Given the description of an element on the screen output the (x, y) to click on. 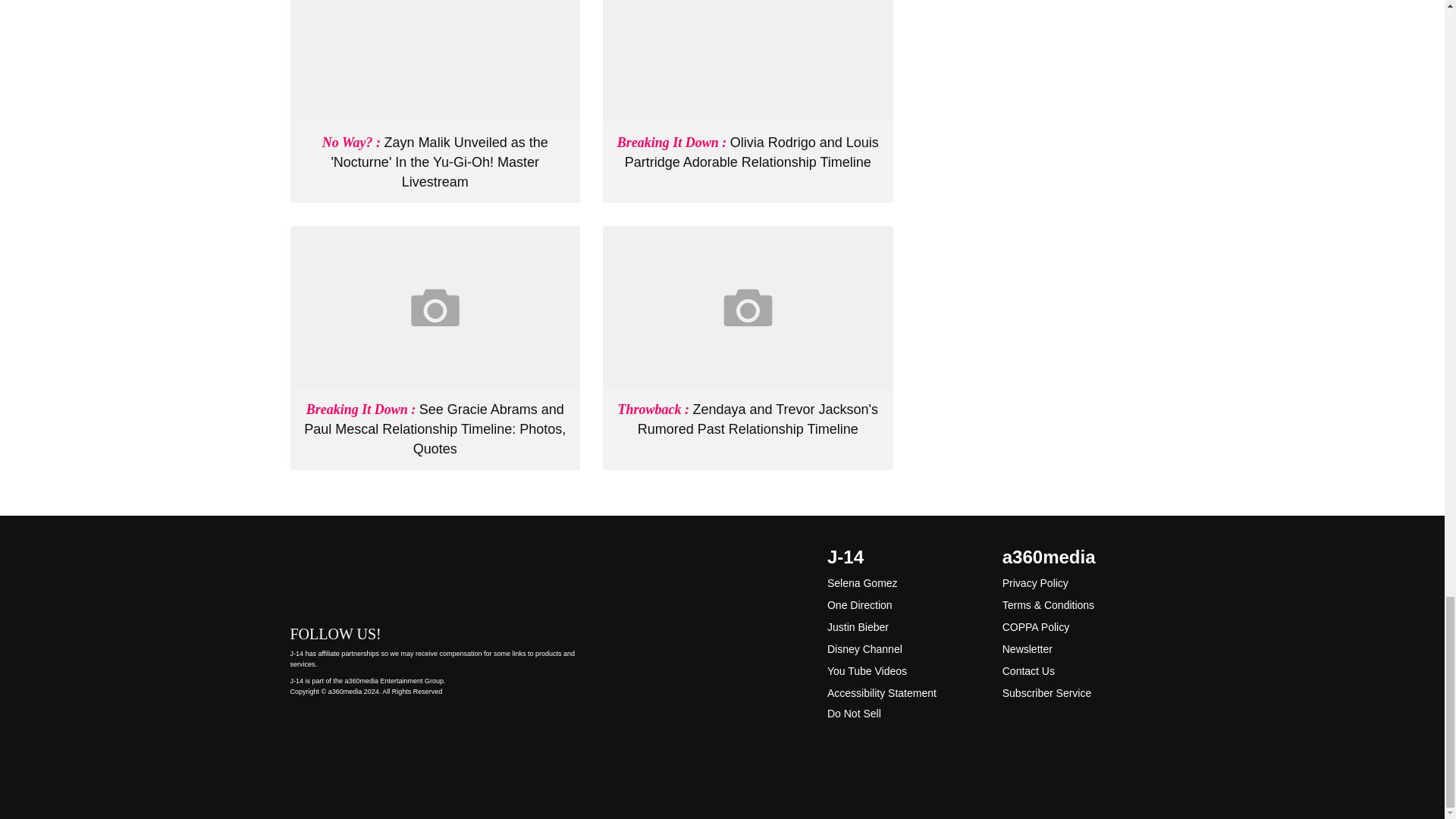
Home (434, 574)
